Given the description of an element on the screen output the (x, y) to click on. 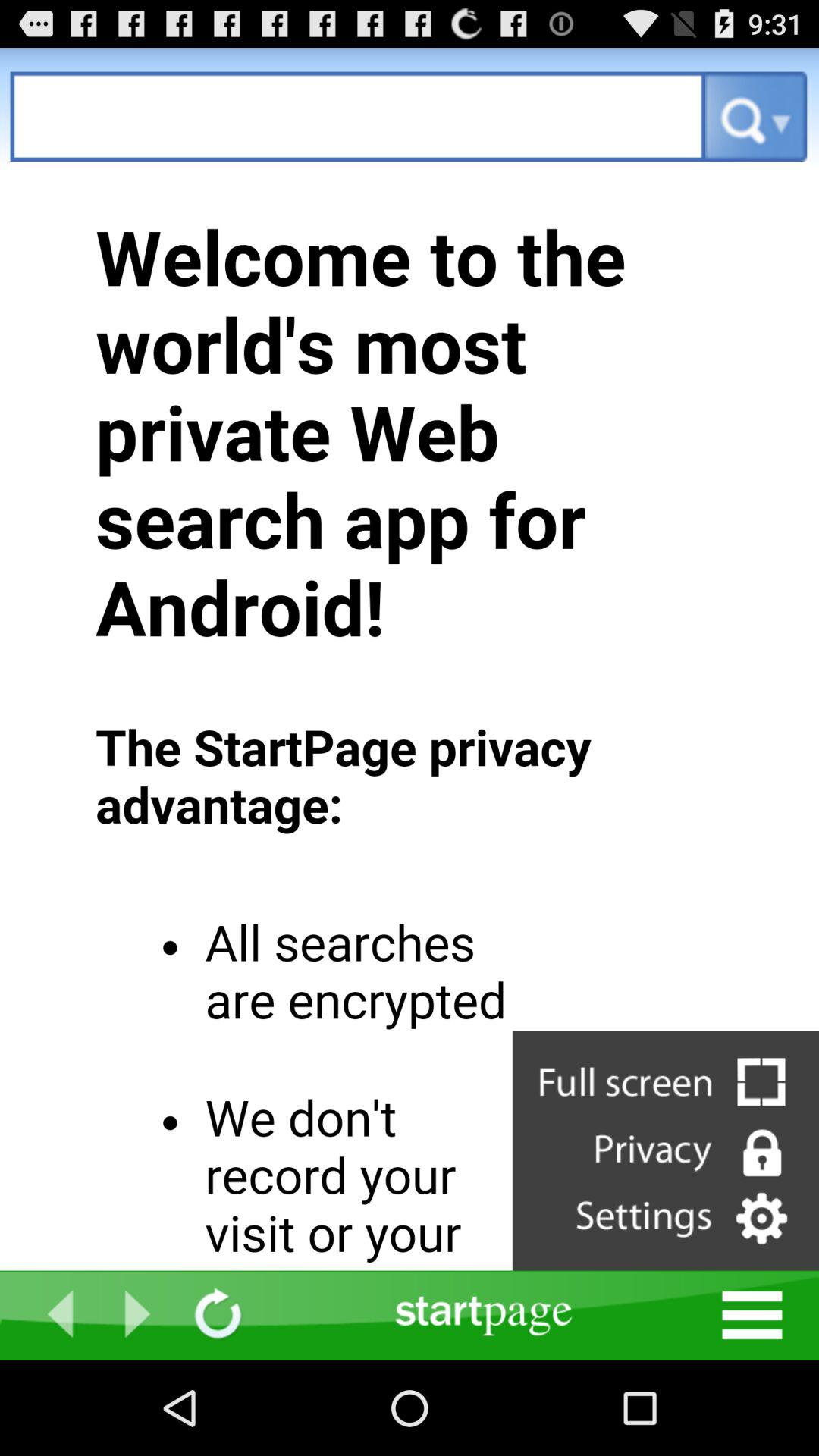
private web search (357, 116)
